Given the description of an element on the screen output the (x, y) to click on. 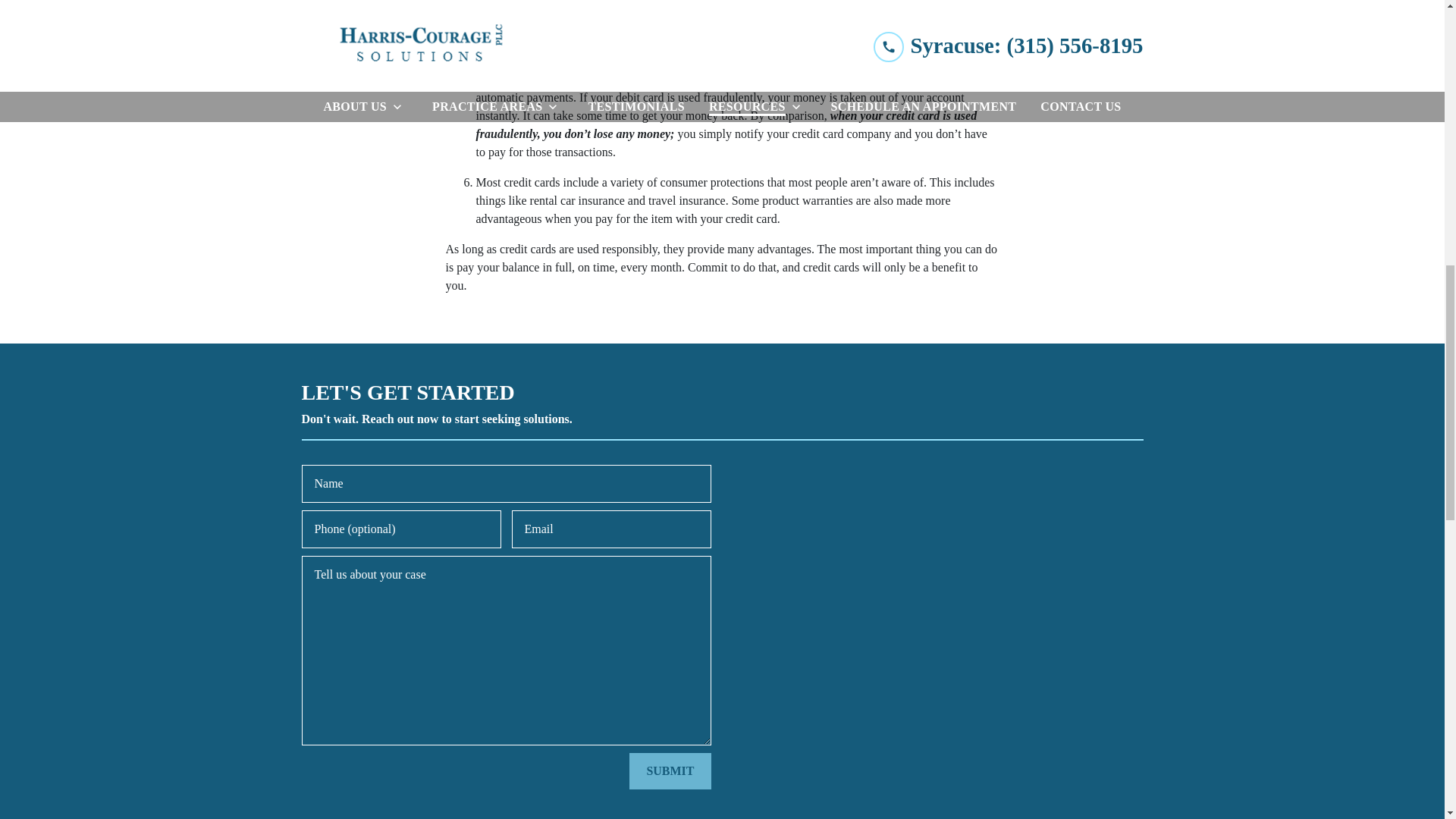
SUBMIT (669, 770)
